Given the description of an element on the screen output the (x, y) to click on. 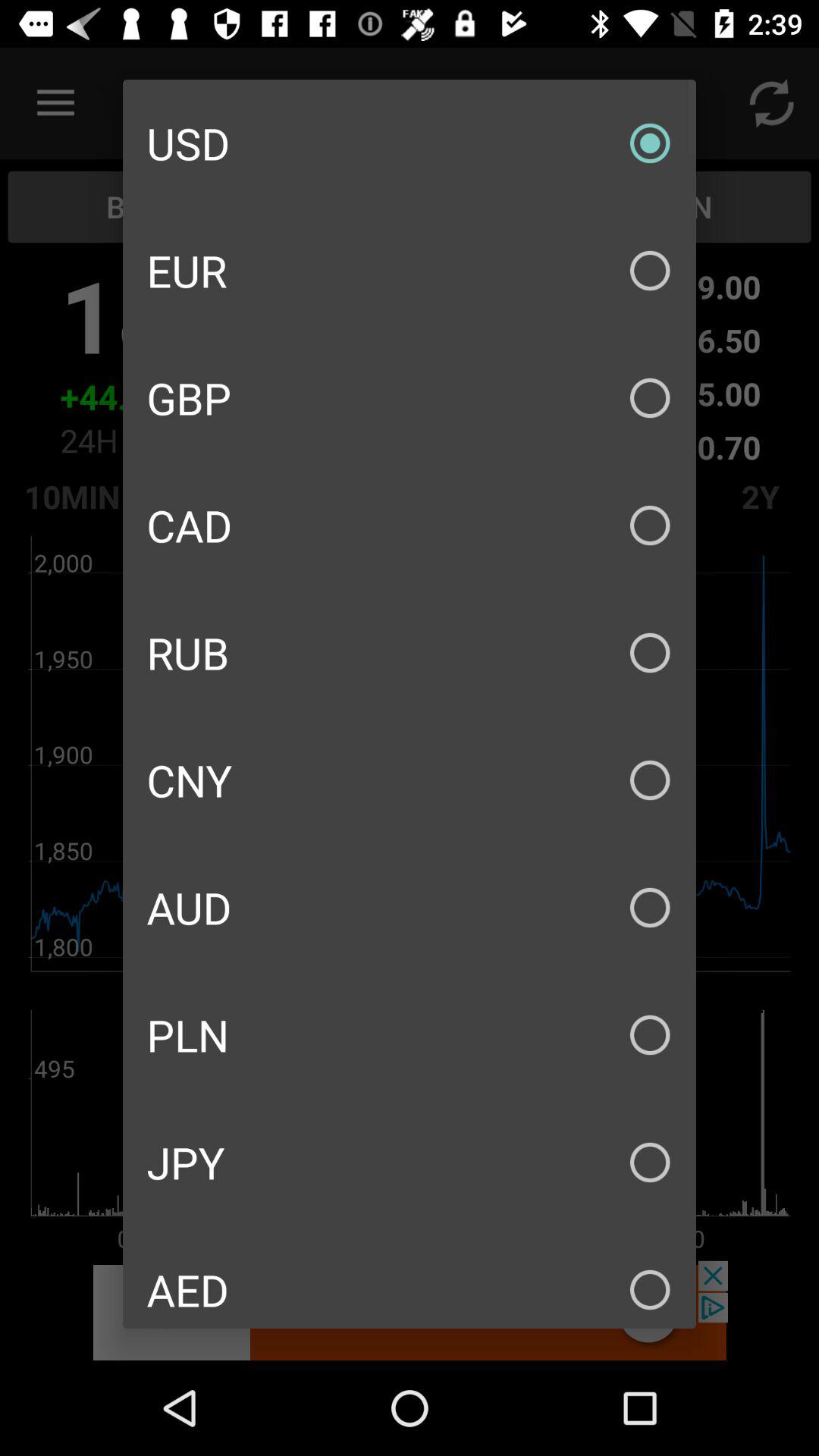
launch the icon below the pln (409, 1162)
